Given the description of an element on the screen output the (x, y) to click on. 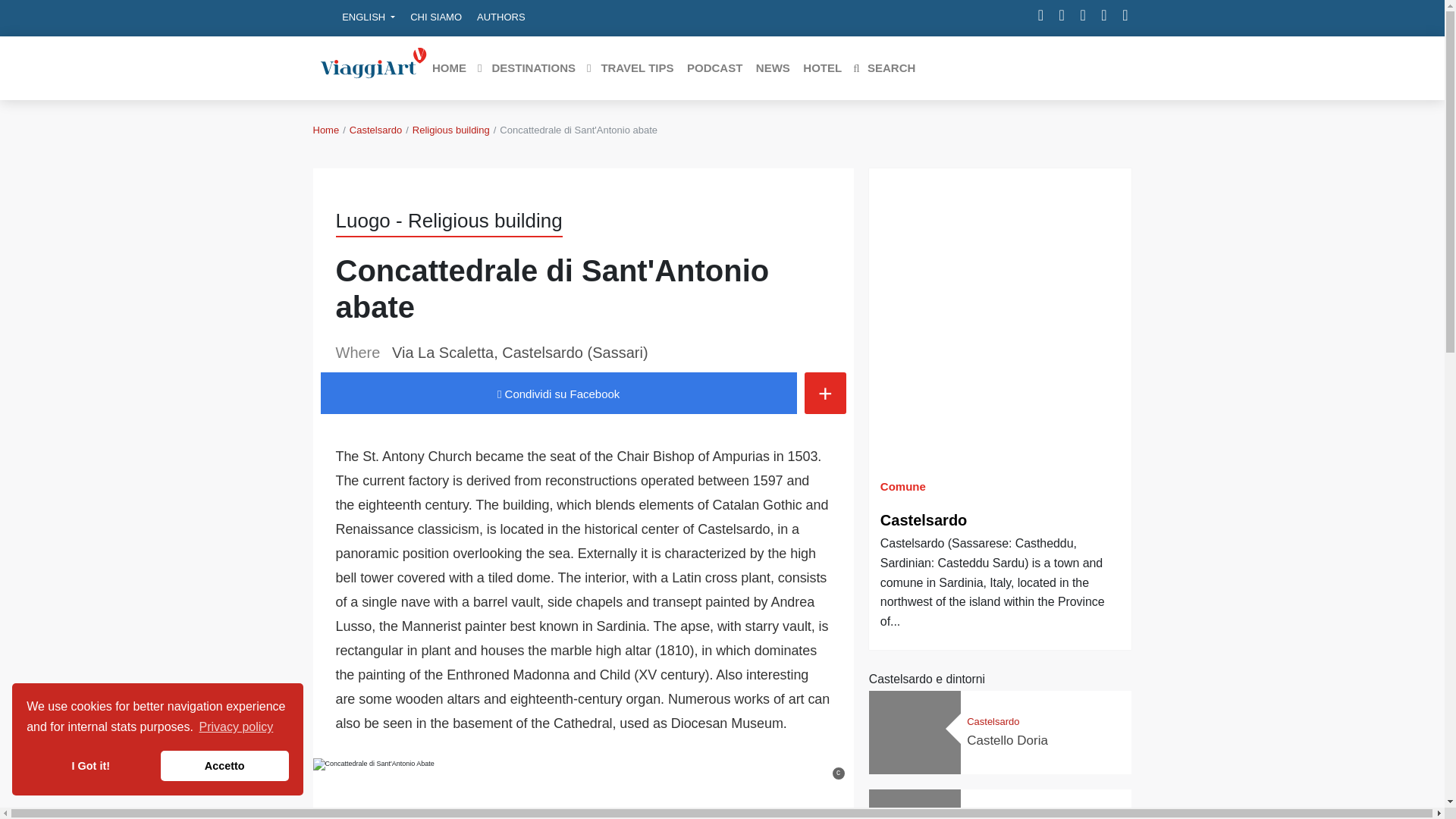
CHI SIAMO (435, 16)
Concattedrale di Sant'Antonio Abate (373, 788)
HOME (448, 68)
Authors (500, 16)
Chi siamo (435, 16)
Castelsardo (375, 130)
ENGLISH (358, 17)
Privacy policy (235, 726)
DESTINATIONS (526, 68)
I Got it! (90, 766)
Religious building (450, 130)
ViaggiArt (373, 66)
Home (326, 130)
AUTHORS (500, 16)
Search (883, 68)
